Given the description of an element on the screen output the (x, y) to click on. 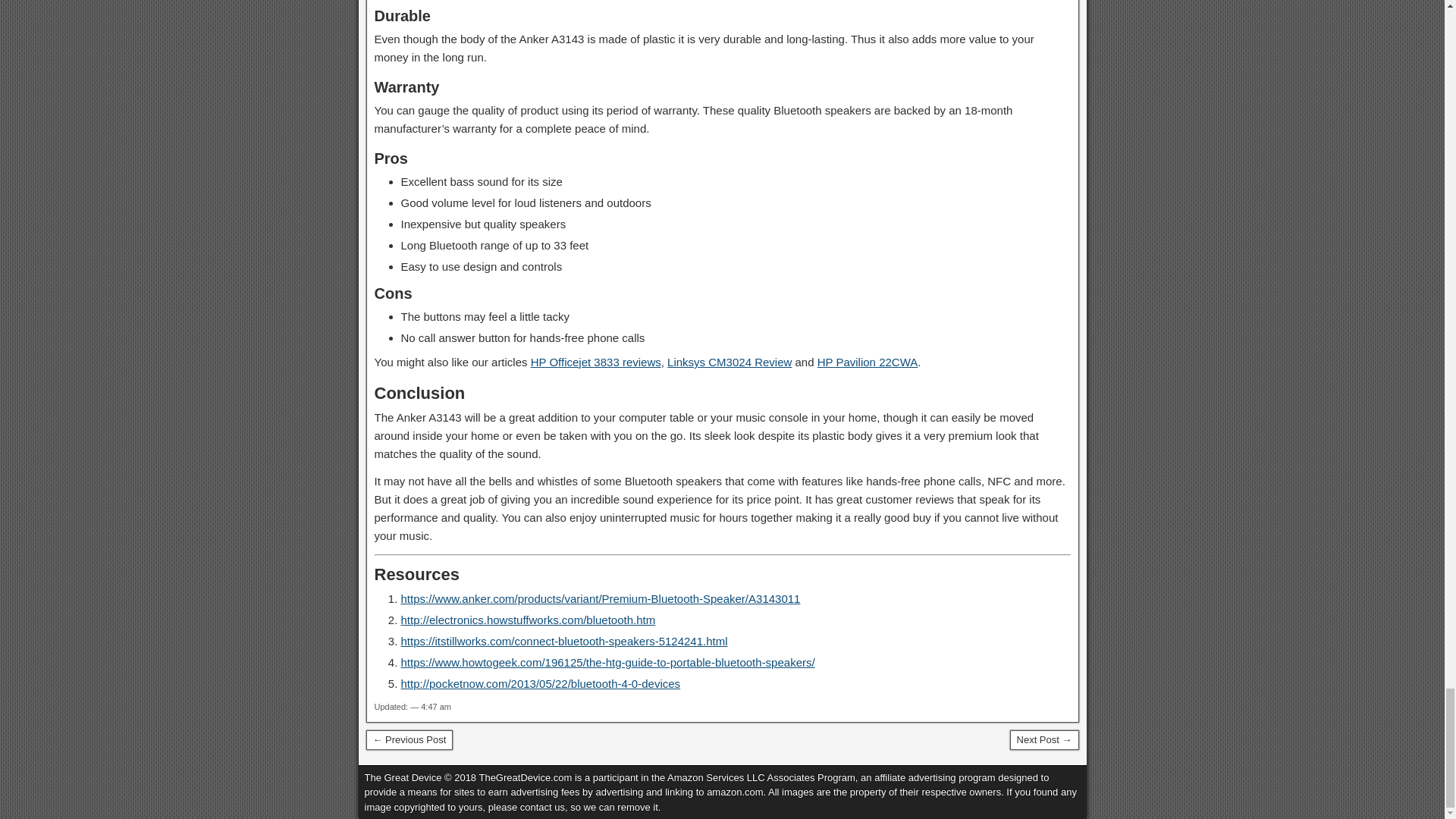
HP Pavilion 22CWA (867, 361)
HP Officejet 3833 reviews (596, 361)
Linksys CM3024 Review (729, 361)
